Given the description of an element on the screen output the (x, y) to click on. 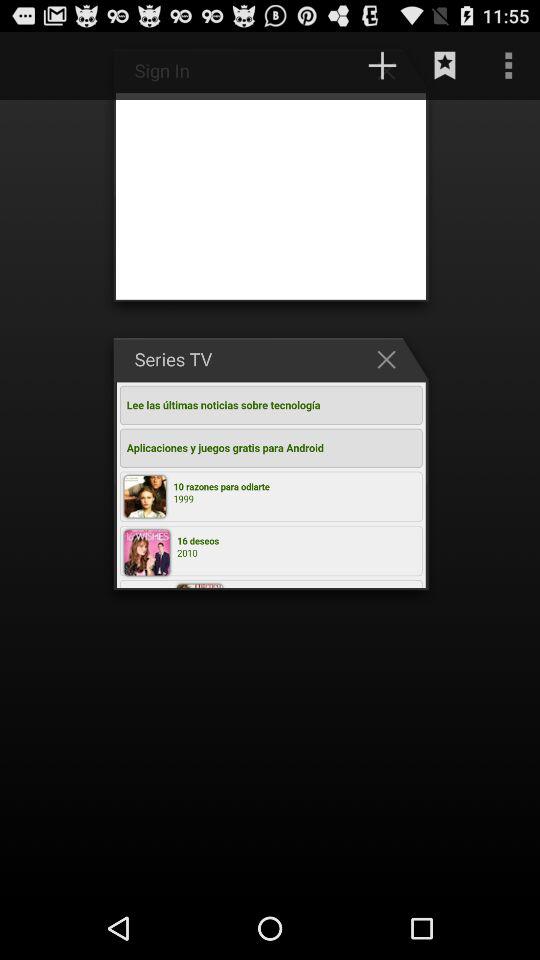
choose app above the series tv item (299, 65)
